Given the description of an element on the screen output the (x, y) to click on. 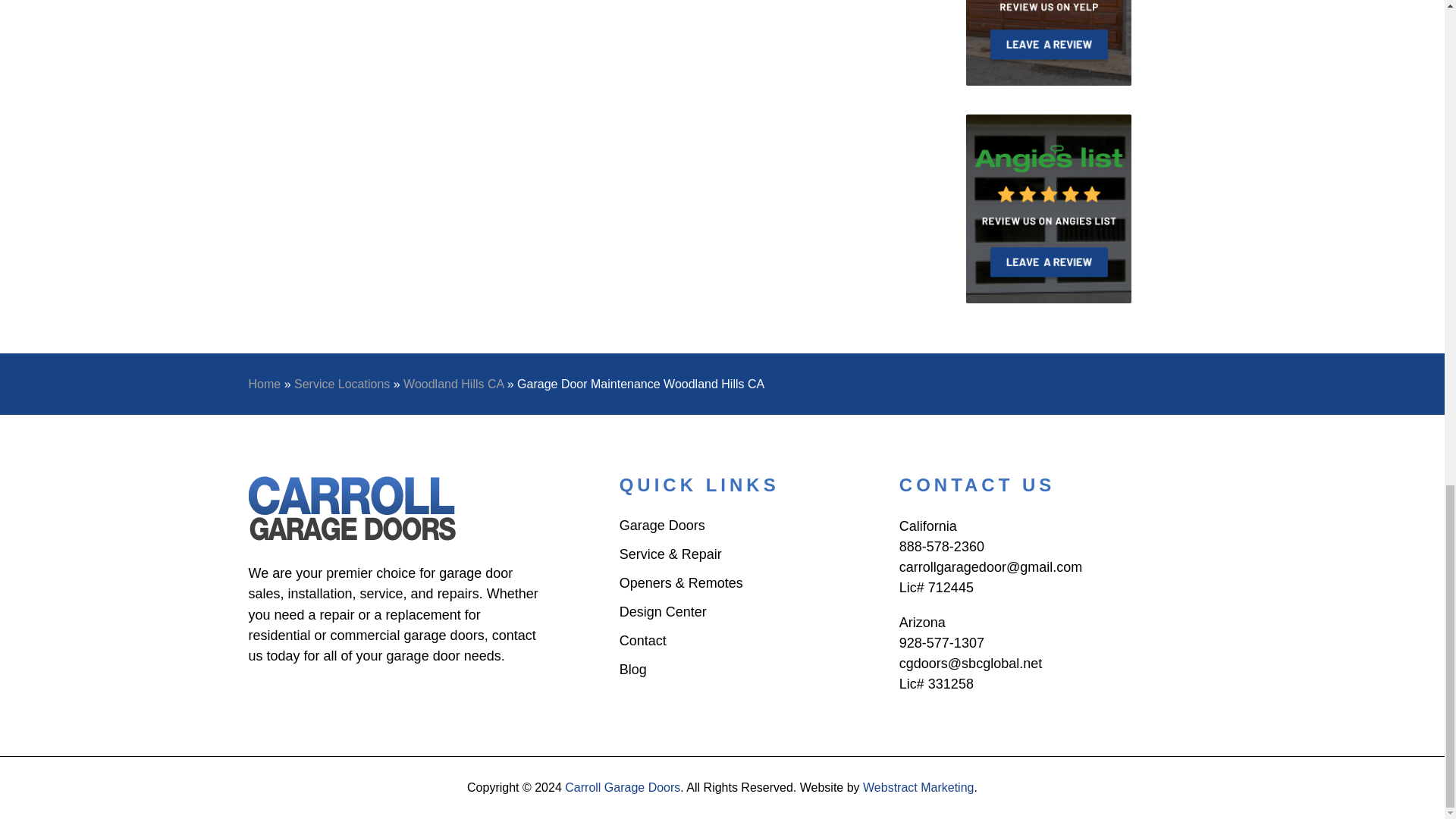
Woodland Hills CA (453, 383)
Carroll Garage Doors (352, 507)
Carroll Garage Doors (621, 787)
Email (990, 566)
Design Center (663, 614)
Home (264, 383)
Website Design Los Angeles CA (918, 787)
Garage Doors (662, 528)
Contact (643, 643)
Service Locations (342, 383)
